Given the description of an element on the screen output the (x, y) to click on. 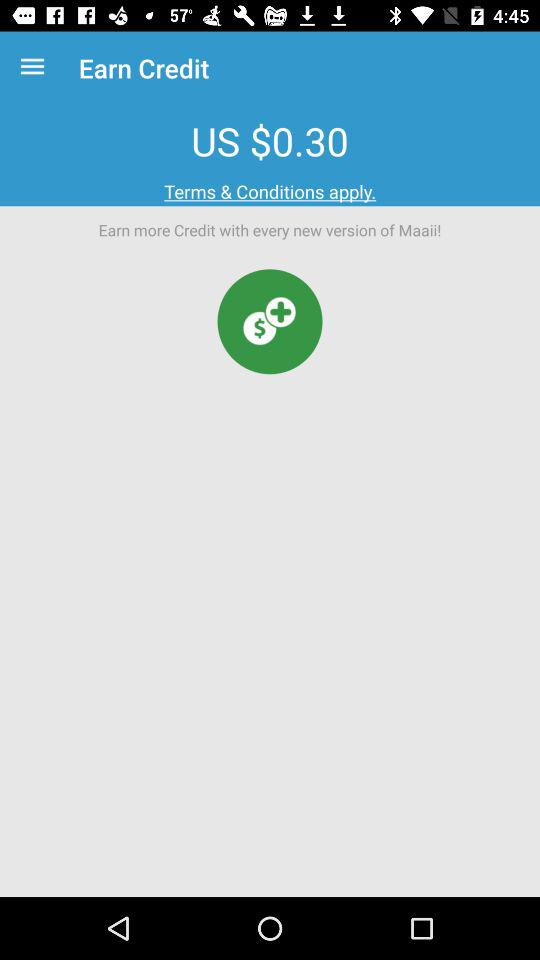
choose app above the earn more credit icon (270, 191)
